Given the description of an element on the screen output the (x, y) to click on. 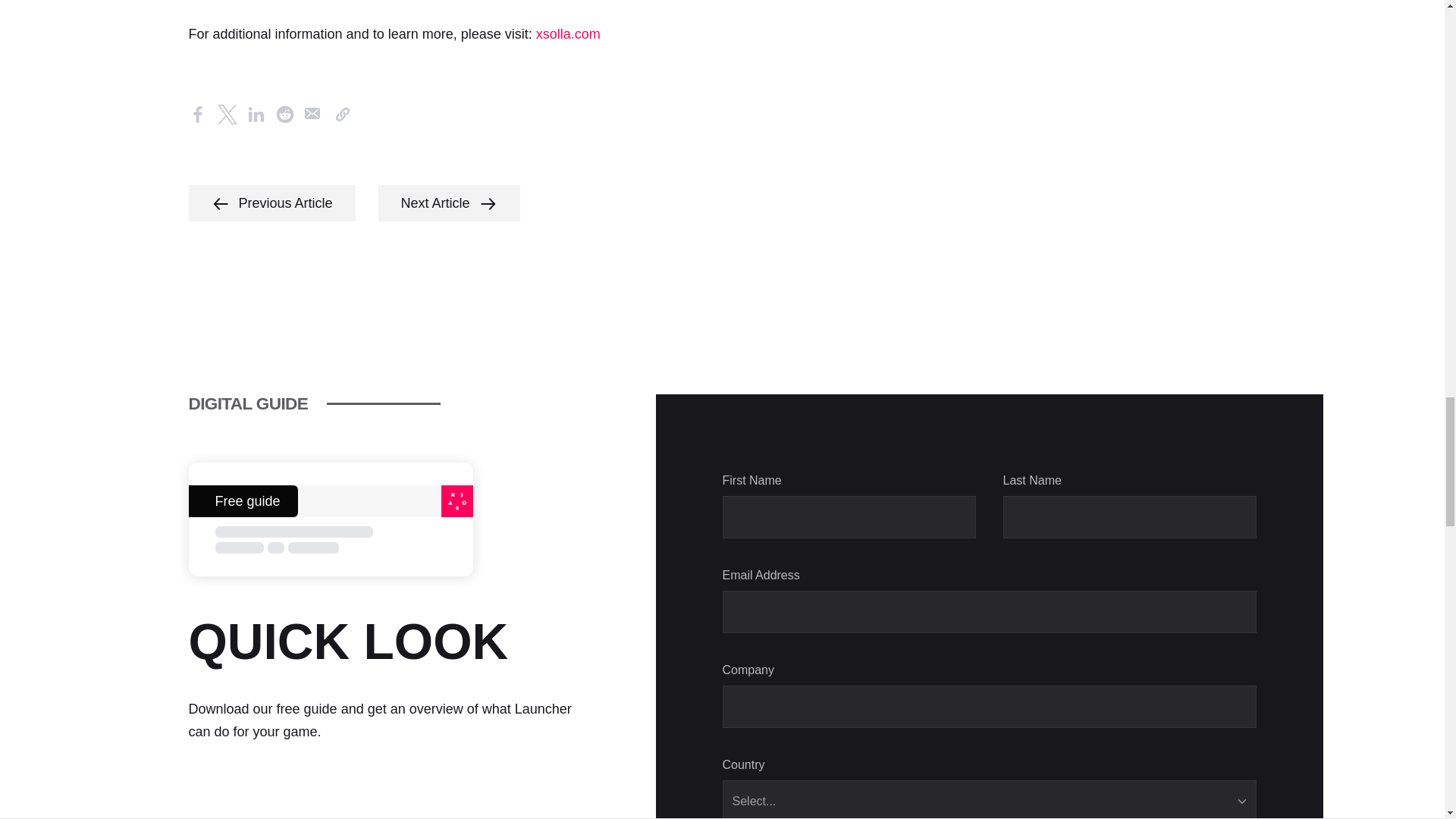
Previous Article (271, 203)
Next Article (448, 203)
xsolla.com (567, 33)
